Given the description of an element on the screen output the (x, y) to click on. 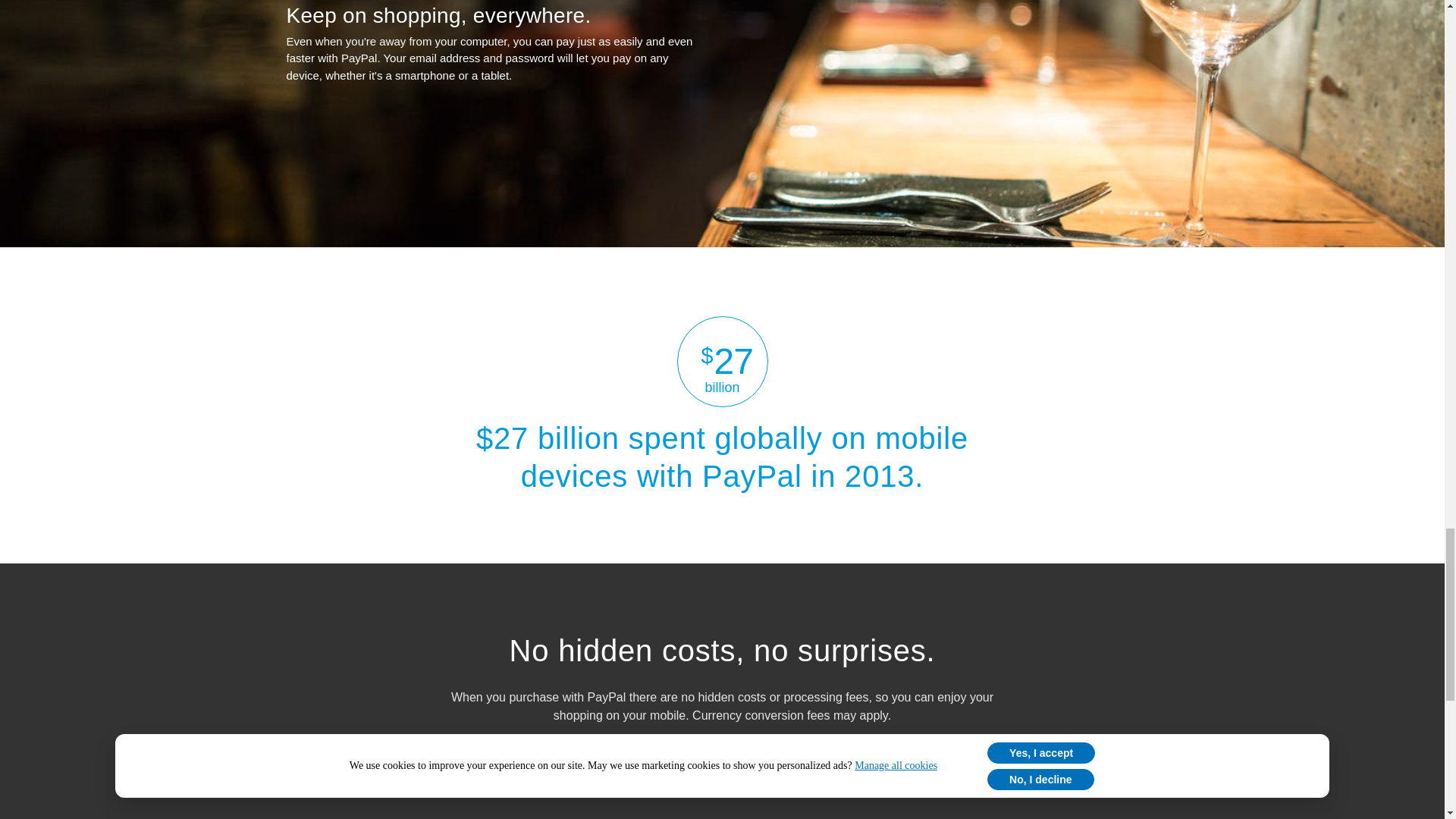
More about fees (719, 760)
